Given the description of an element on the screen output the (x, y) to click on. 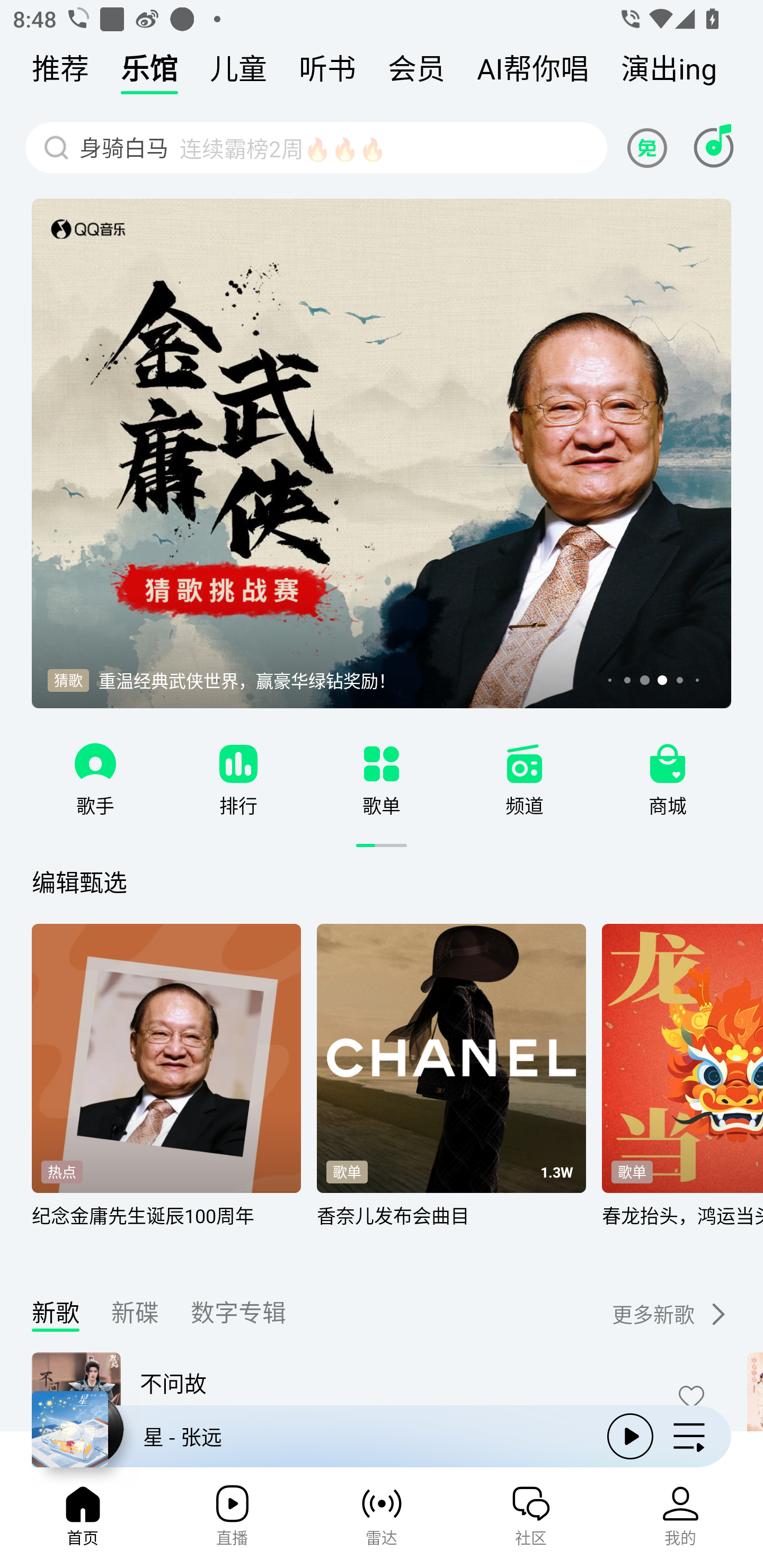
推荐 (60, 73)
乐馆 (149, 73)
儿童 (238, 73)
听书 (327, 73)
会员 (416, 73)
AI帮你唱 (532, 73)
演出ing (668, 73)
搜索 身骑白马连续霸榜2周🔥🔥🔥 身骑白马 连续霸榜2周🔥🔥🔥 (316, 147)
看广告免费听歌 (649, 146)
听歌识曲 (713, 146)
歌手 (95, 804)
排行 (238, 804)
歌单 (381, 804)
频道 (524, 804)
商城 (667, 804)
编辑甄选 (79, 881)
1.3W (556, 1172)
热点 (61, 1171)
歌单 (346, 1171)
歌单 (632, 1171)
纪念金庸先生诞辰100周年 (166, 1226)
香奈儿发布会曲目 (450, 1226)
春龙抬头，鸿运当头 (682, 1226)
新歌 (55, 1316)
新碟 (134, 1316)
数字专辑 (238, 1316)
更多新歌 (656, 1313)
更多 (716, 1313)
不问故 (395, 1382)
收藏 (691, 1396)
星 - 张远 (311, 1435)
播放 (630, 1435)
歌曲队列 (688, 1435)
首页 (82, 1521)
直播 (231, 1521)
雷达 (381, 1521)
社区 (530, 1521)
我的 (680, 1521)
